Given the description of an element on the screen output the (x, y) to click on. 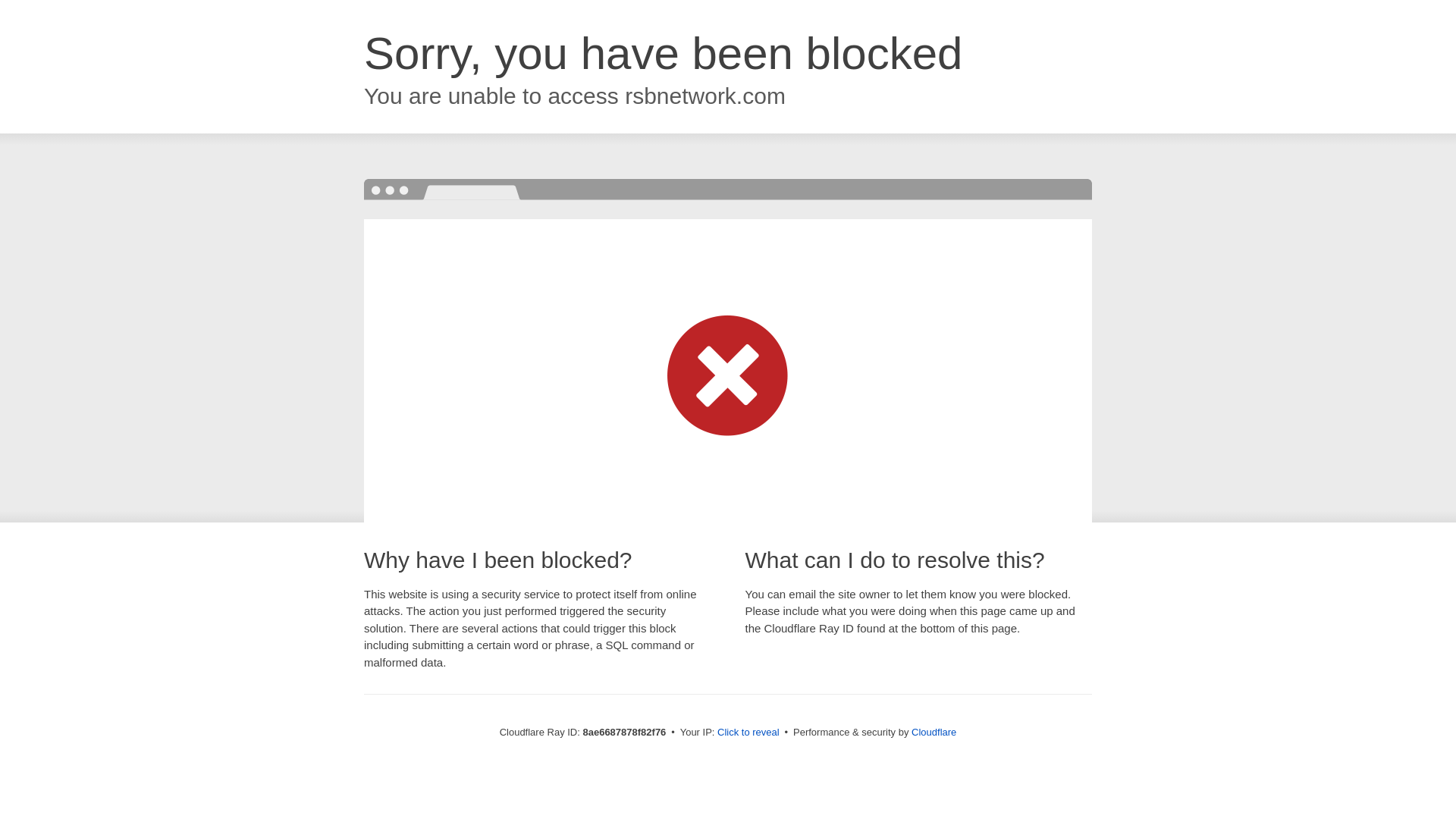
Cloudflare (933, 731)
Click to reveal (747, 732)
